Given the description of an element on the screen output the (x, y) to click on. 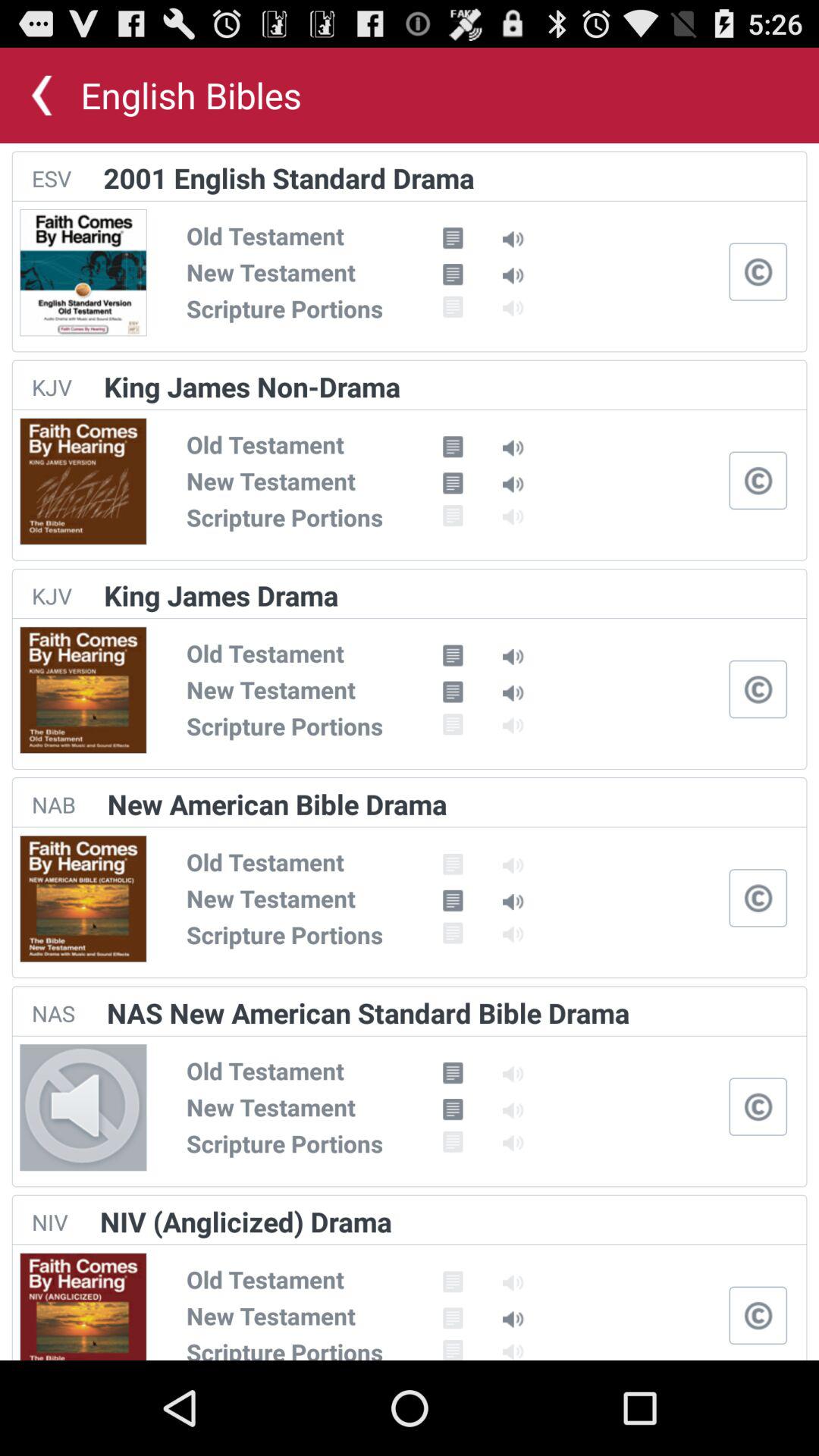
tap item next to the esv item (288, 177)
